Given the description of an element on the screen output the (x, y) to click on. 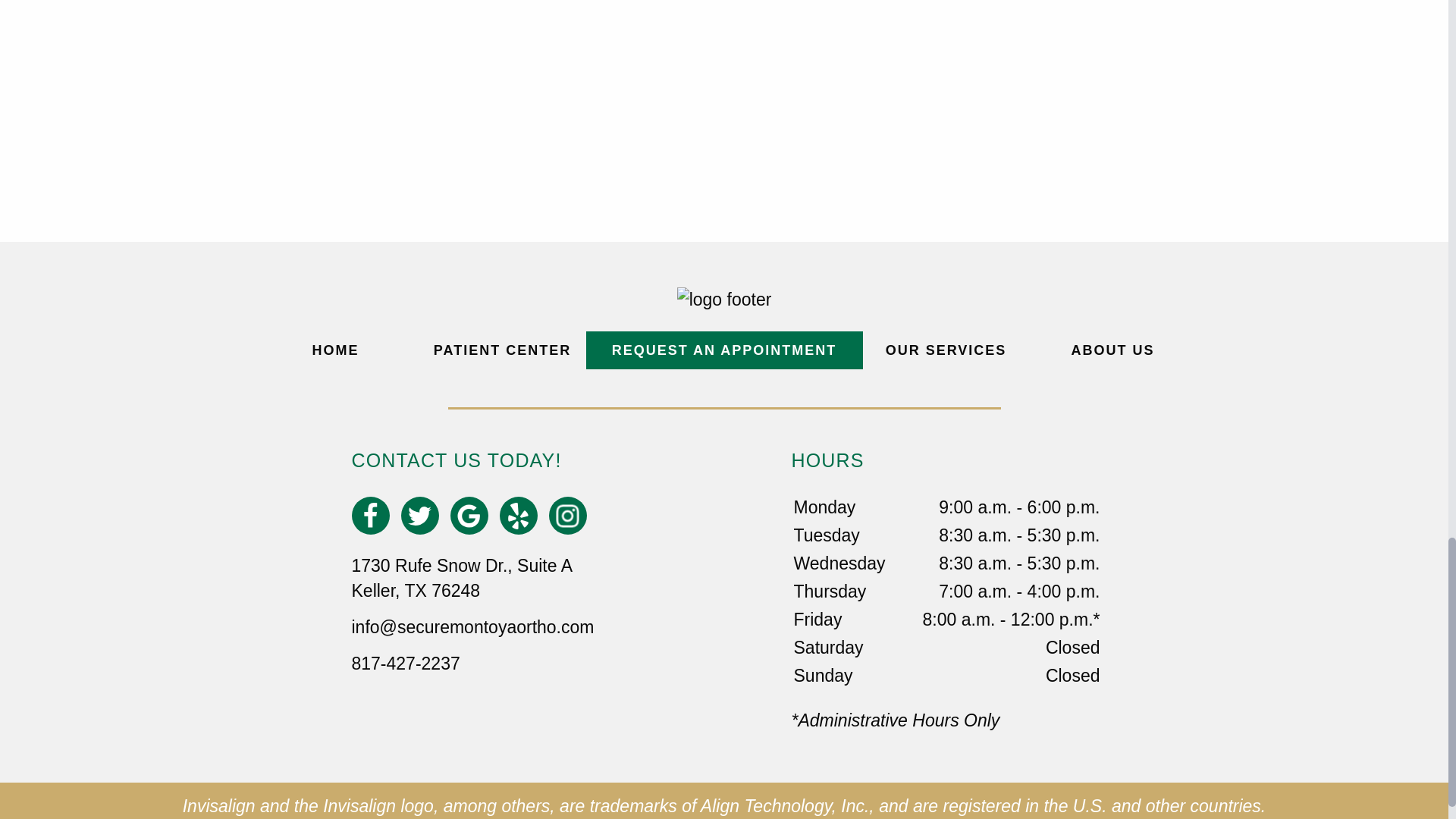
Instagram icon (567, 515)
Twitter icon (419, 515)
Yelp icon (518, 515)
Facebook icon (370, 515)
Google icon (468, 515)
